Given the description of an element on the screen output the (x, y) to click on. 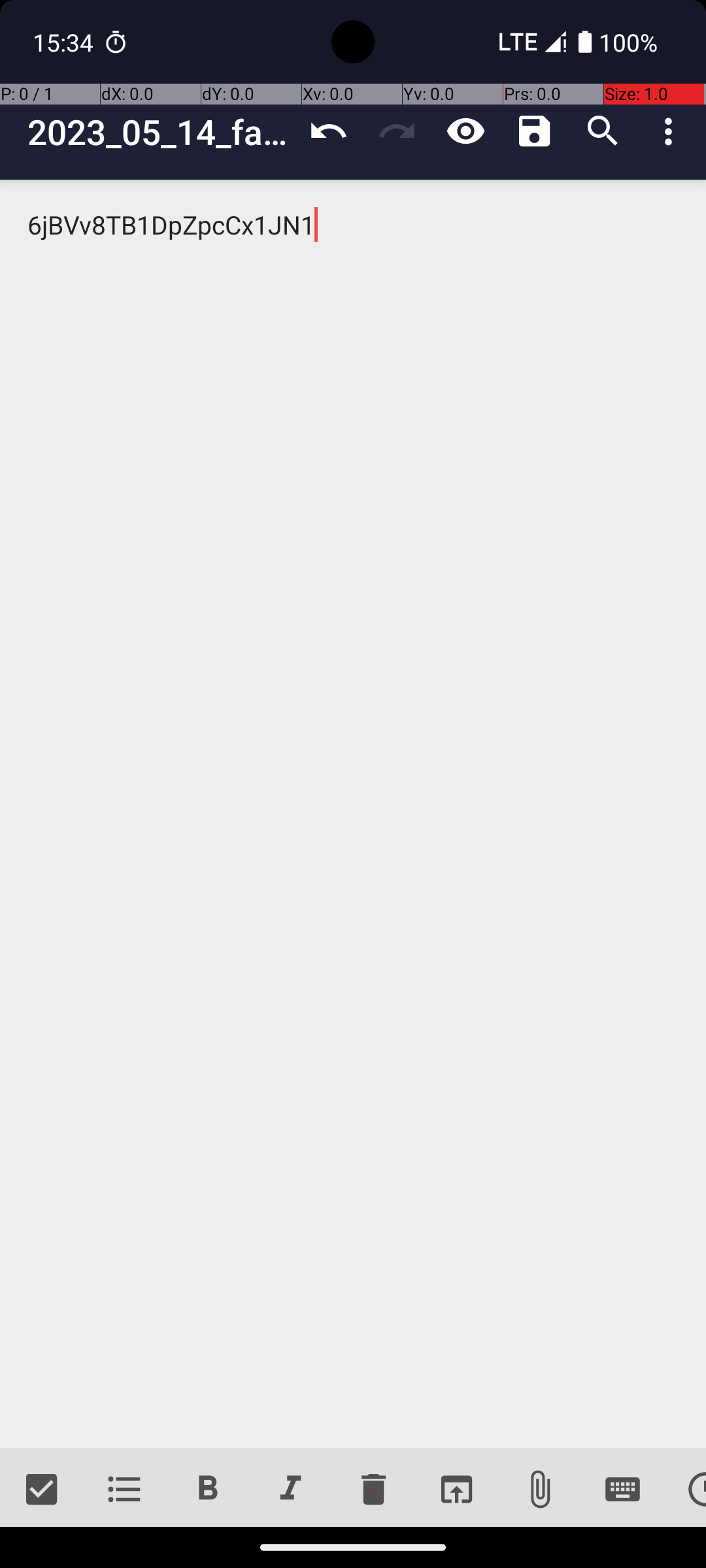
2023_05_14_favorite_book_quotes Element type: android.widget.TextView (160, 131)
6jBVv8TB1DpZpcCx1JN1 Element type: android.widget.EditText (353, 813)
